Given the description of an element on the screen output the (x, y) to click on. 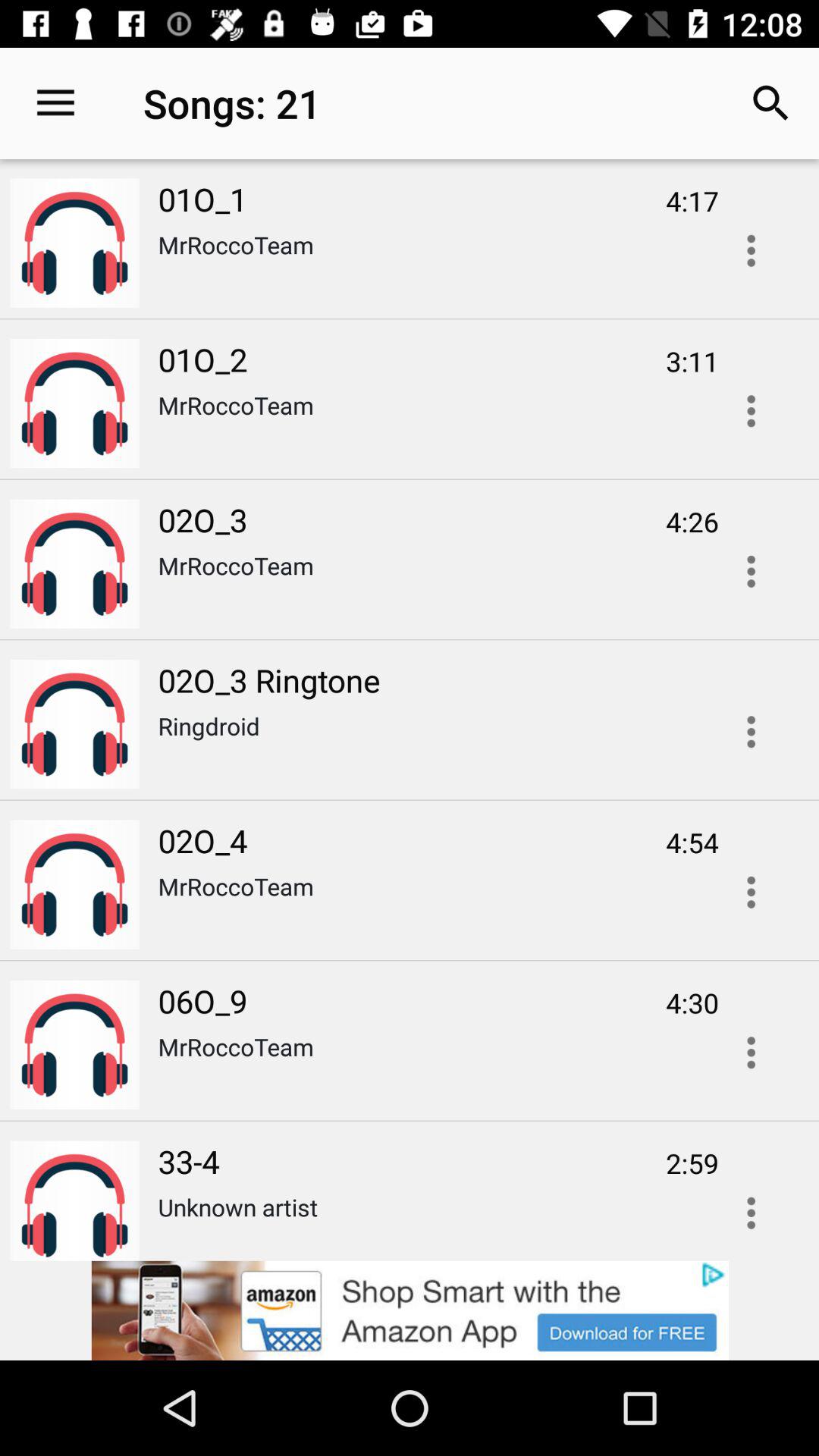
more option button (750, 1052)
